Given the description of an element on the screen output the (x, y) to click on. 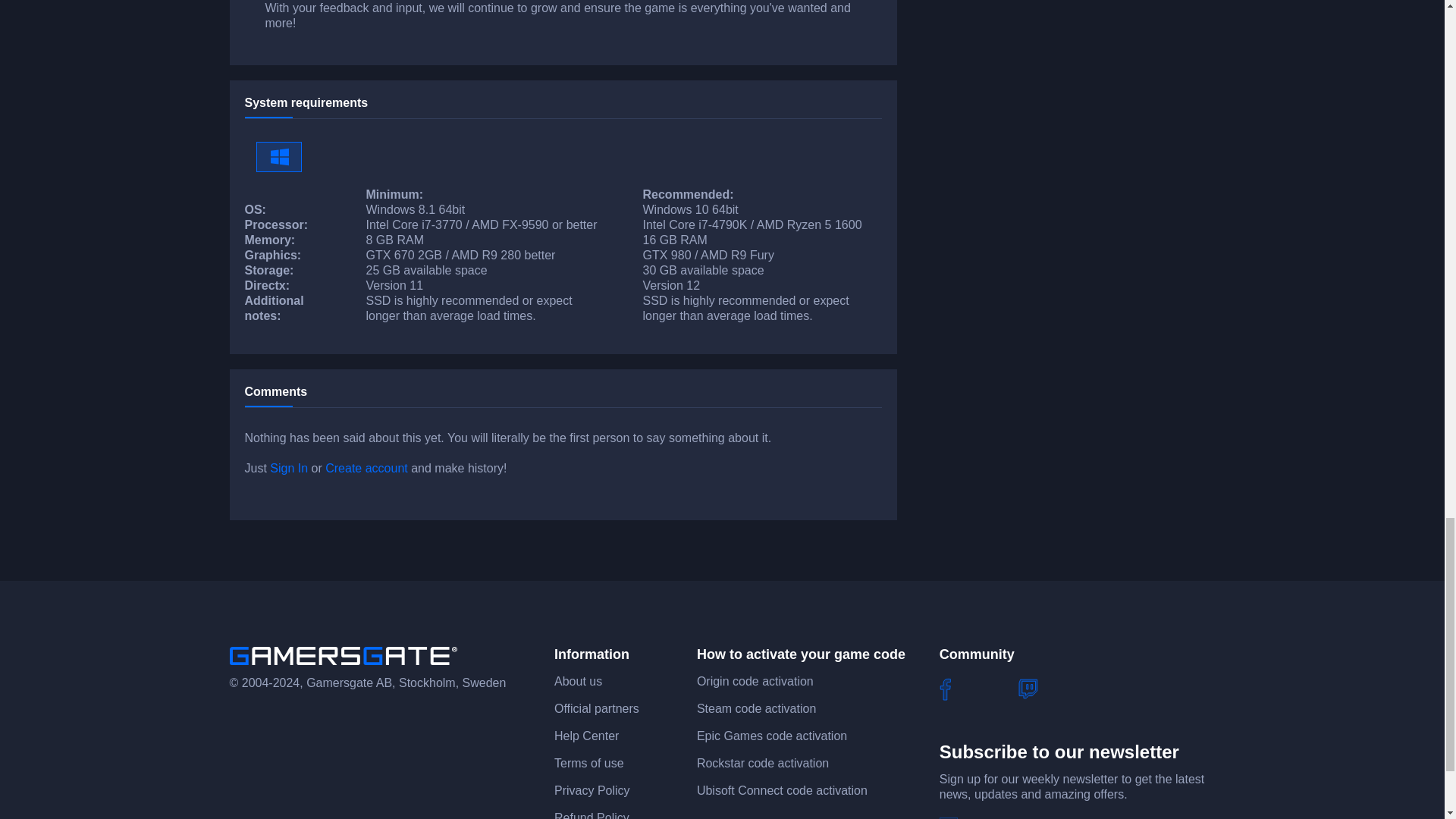
Terms of use (589, 762)
About us (578, 680)
Official partners (596, 707)
Create account (365, 468)
Sign In (288, 468)
Help Center (586, 735)
